Given the description of an element on the screen output the (x, y) to click on. 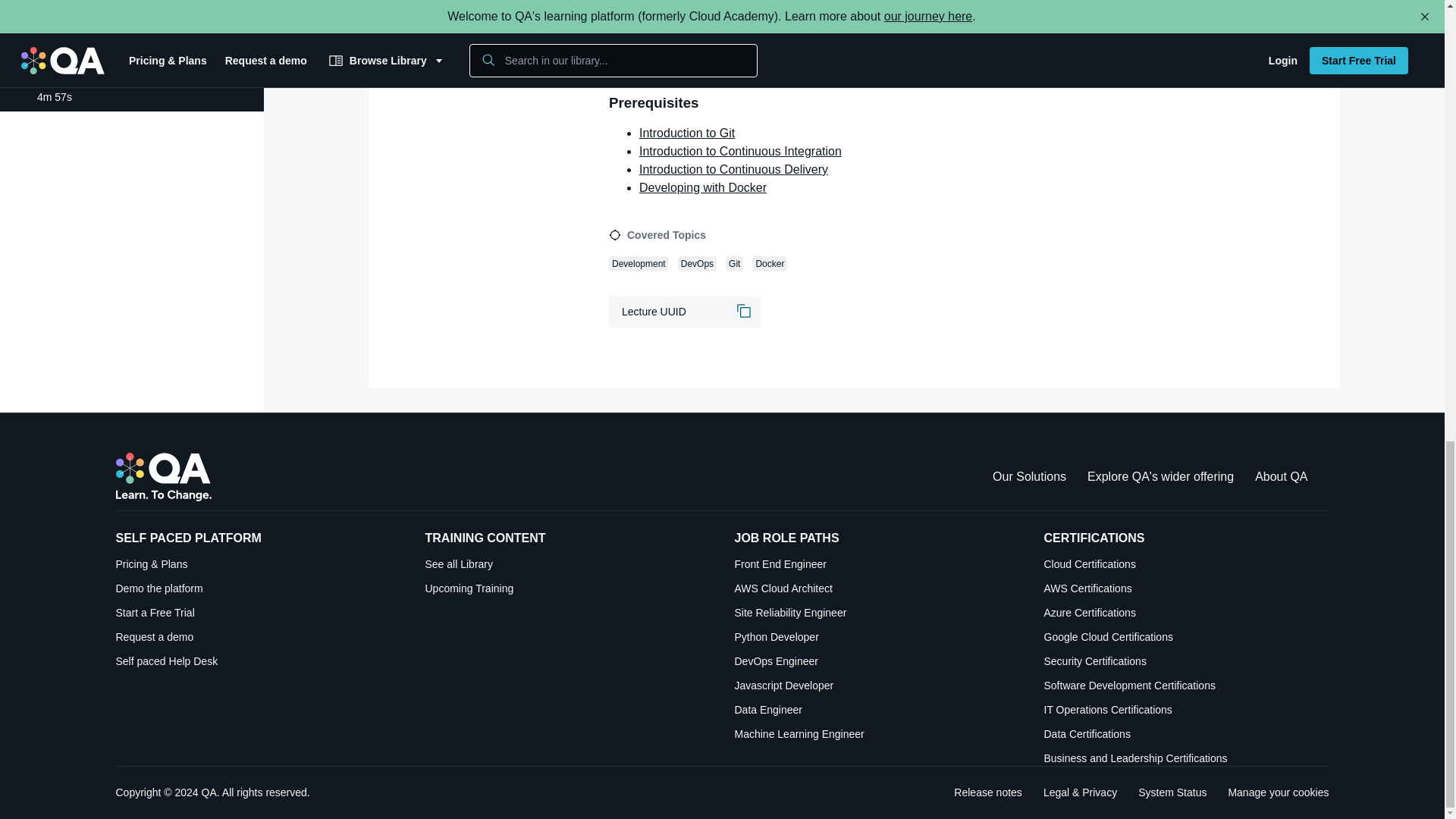
DevOps (697, 262)
Lecture UUID (684, 311)
Introduction to Git (687, 132)
Our Solutions (1028, 476)
Development (638, 262)
Git (733, 262)
Introduction to Continuous Integration (740, 151)
Docker (769, 262)
Explore QA's wider offering (1160, 476)
Introduction to Continuous Delivery (733, 169)
